Given the description of an element on the screen output the (x, y) to click on. 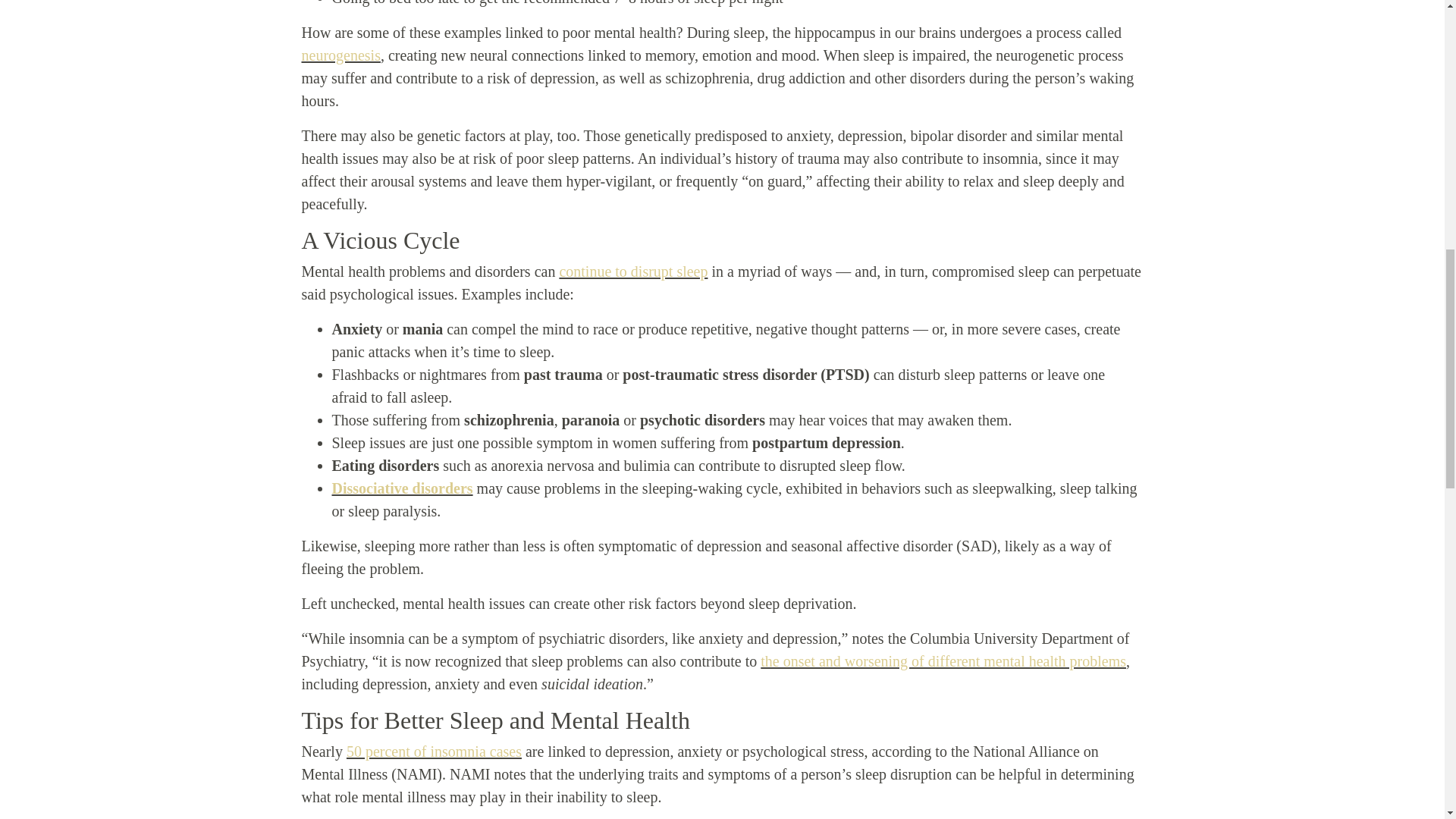
50 percent of insomnia cases (433, 751)
the onset and worsening of different mental health problems (942, 660)
Dissociative disorders (402, 487)
neurogenesis (340, 54)
continue to disrupt sleep (633, 271)
